Given the description of an element on the screen output the (x, y) to click on. 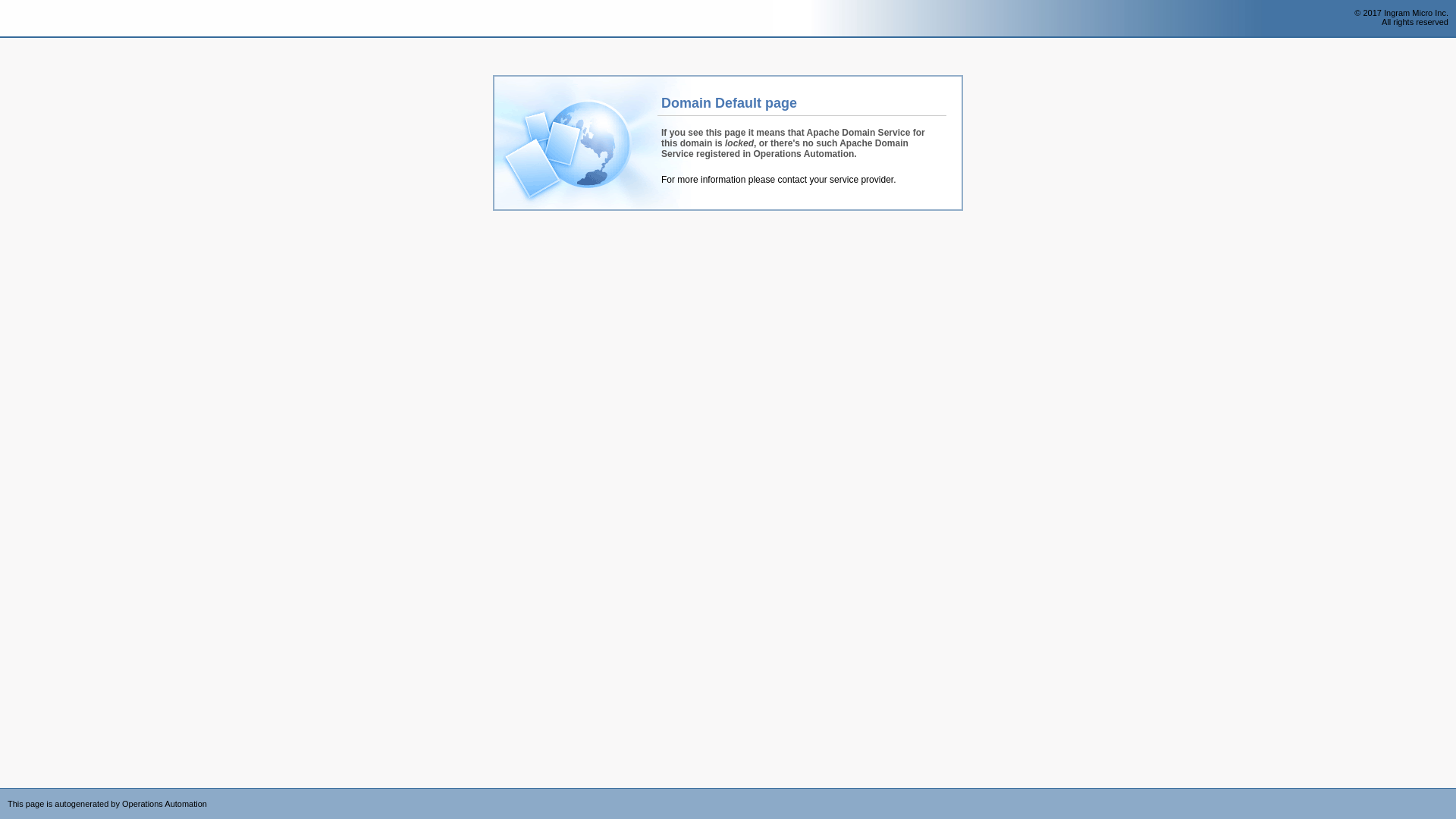
Operations Automation Element type: text (39, 18)
Powered by CloudBlue Commerce Element type: hover (1447, 792)
